Given the description of an element on the screen output the (x, y) to click on. 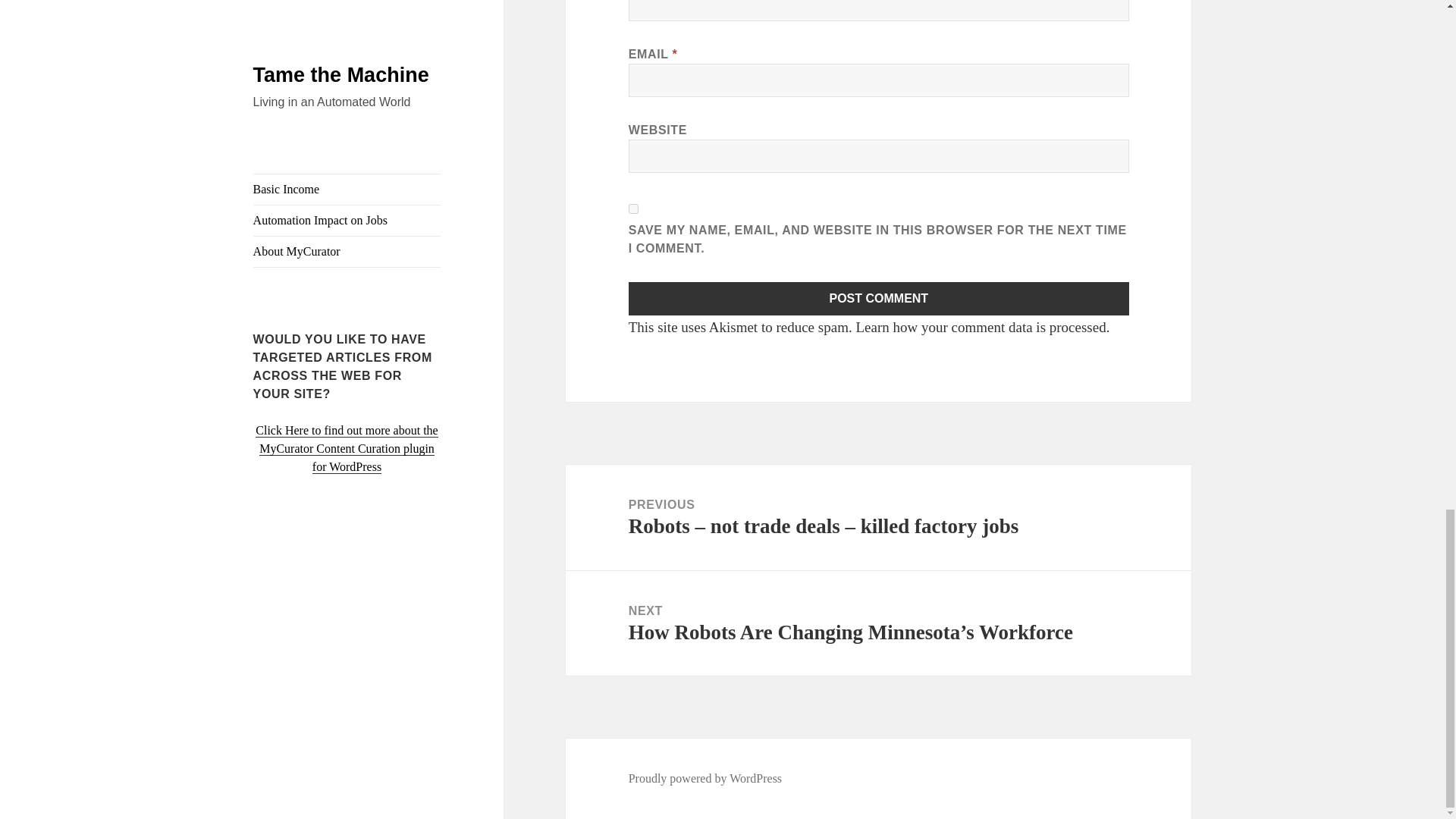
yes (633, 208)
Learn how your comment data is processed (980, 326)
Proudly powered by WordPress (704, 778)
Post Comment (878, 298)
Post Comment (878, 298)
